Given the description of an element on the screen output the (x, y) to click on. 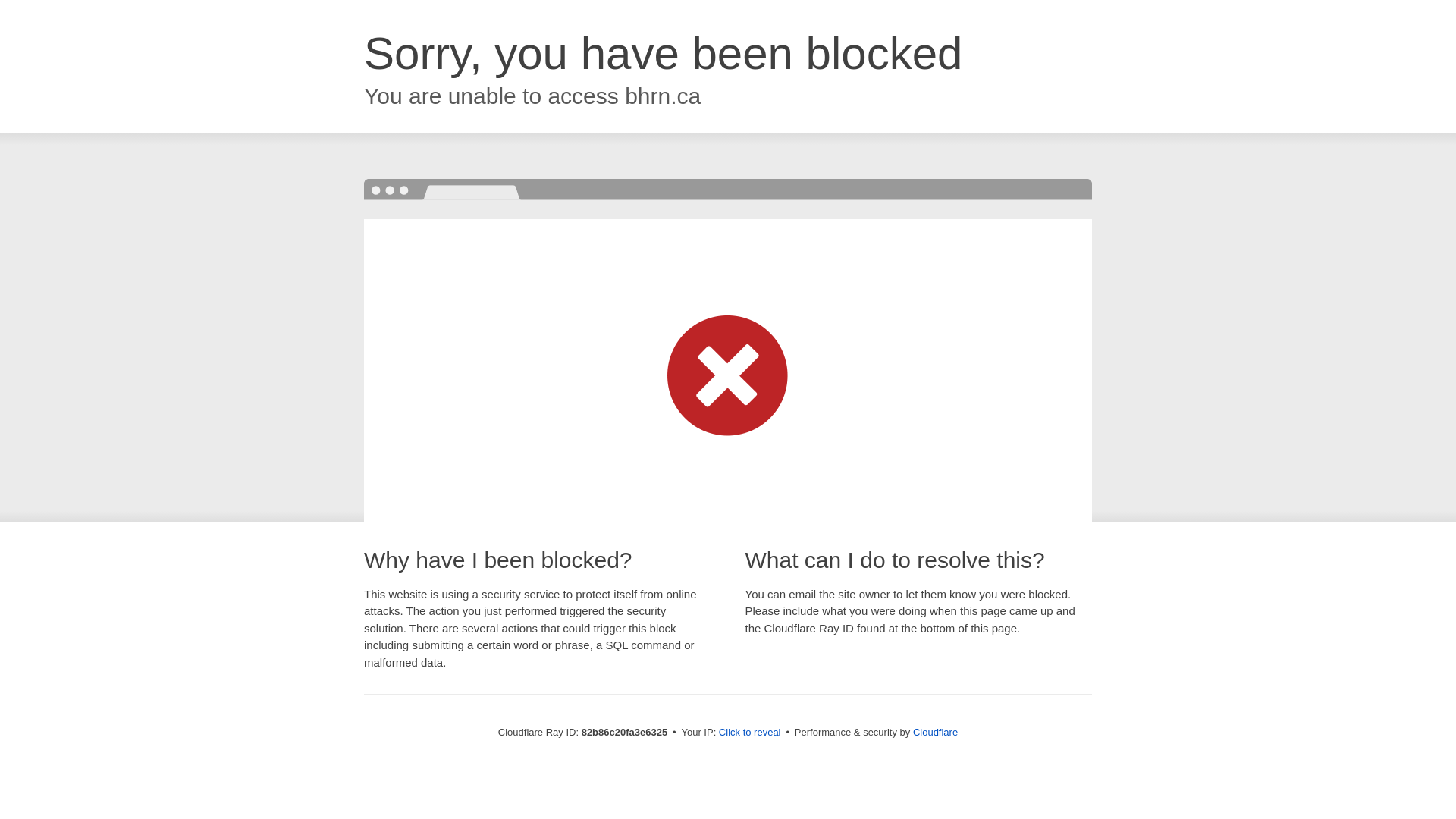
Click to reveal Element type: text (749, 732)
Cloudflare Element type: text (935, 731)
